Given the description of an element on the screen output the (x, y) to click on. 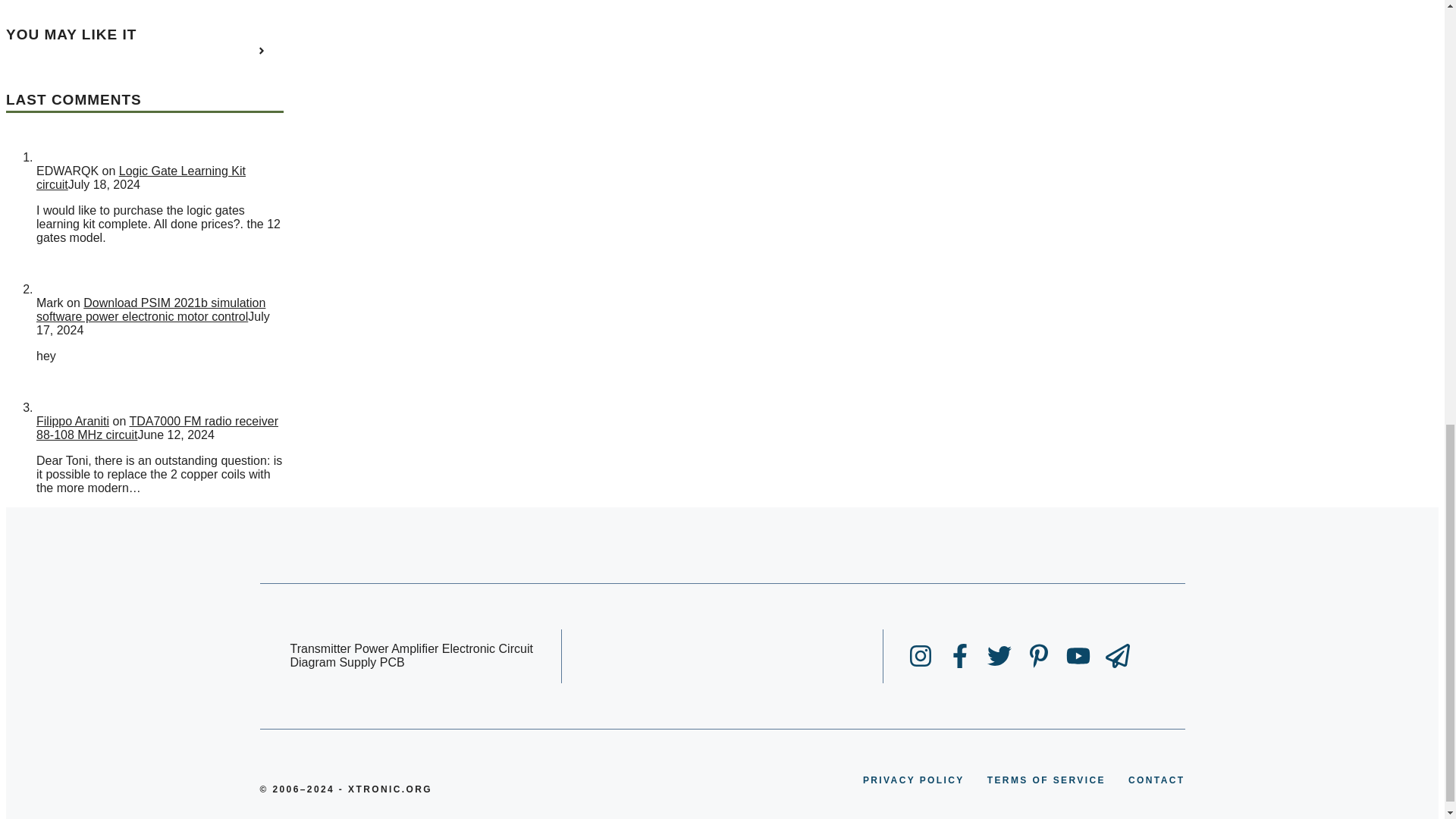
TDA7000 FM radio receiver 88-108 MHz circuit (157, 427)
Scroll back to top (1406, 640)
Filippo Araniti (72, 420)
Logic Gate Learning Kit circuit (141, 177)
